Given the description of an element on the screen output the (x, y) to click on. 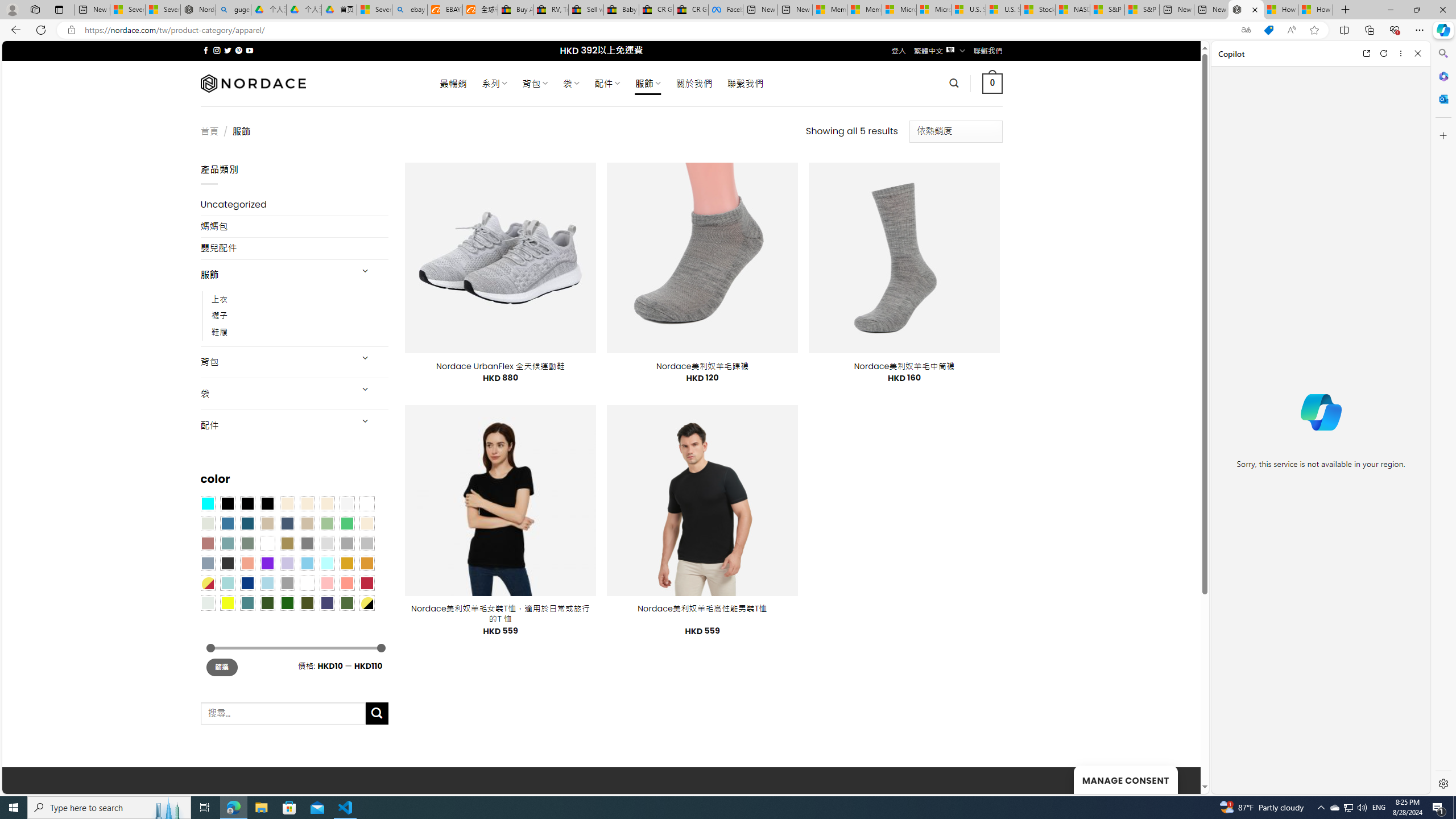
MANAGE CONSENT (1125, 779)
Buy Auto Parts & Accessories | eBay (515, 9)
RV, Trailer & Camper Steps & Ladders for sale | eBay (550, 9)
Side bar (1443, 418)
Follow on Twitter (227, 50)
Cream (327, 503)
